Given the description of an element on the screen output the (x, y) to click on. 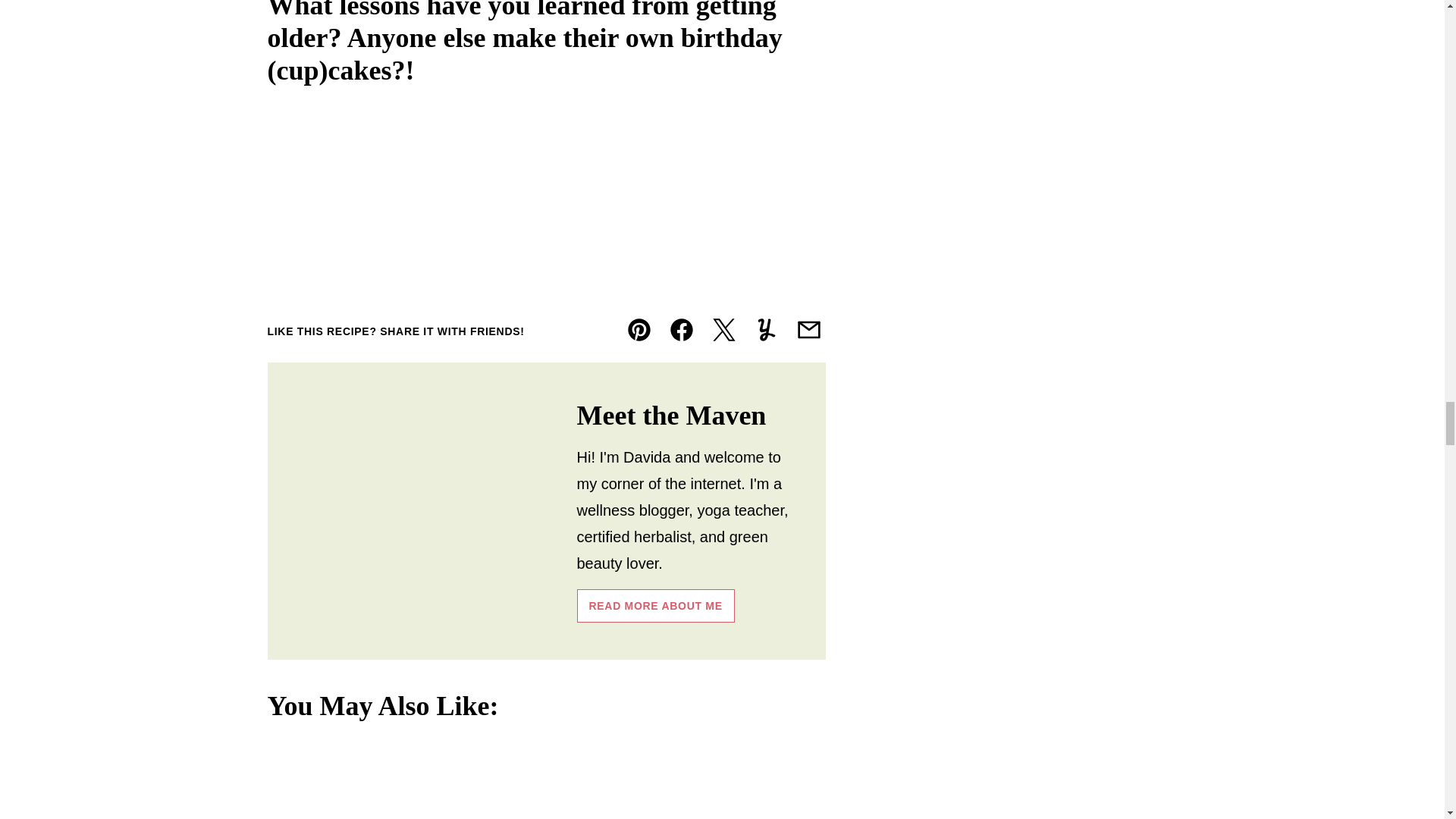
Share via Email (808, 329)
Share on Twitter (722, 329)
Share on Yummly (766, 329)
Share on Facebook (680, 329)
Share on Pinterest (638, 329)
